Given the description of an element on the screen output the (x, y) to click on. 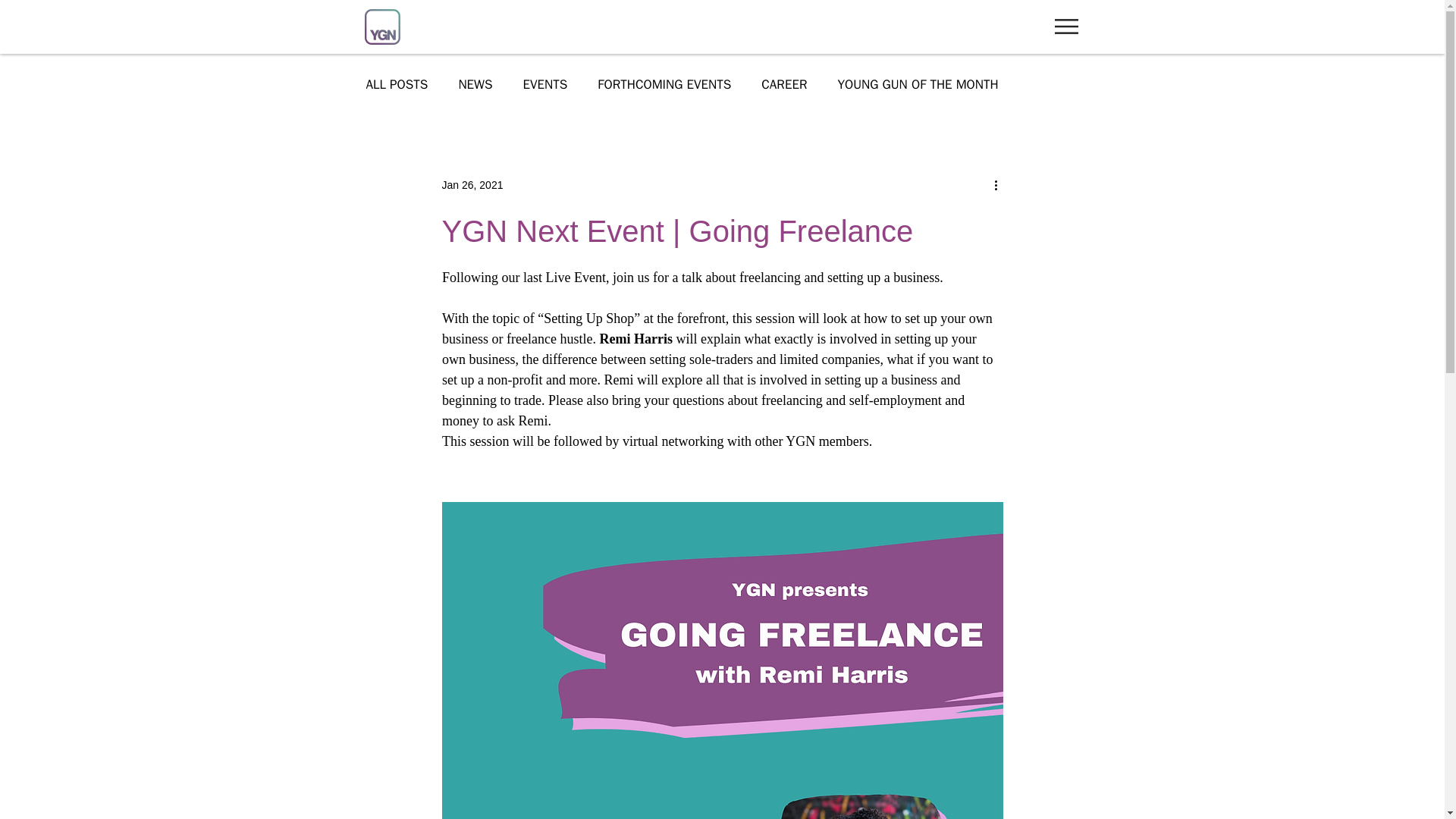
FORTHCOMING EVENTS (663, 84)
Jan 26, 2021 (471, 184)
EVENTS (544, 84)
YOUNG GUN OF THE MONTH (917, 84)
ALL POSTS (396, 84)
CAREER (783, 84)
NEWS (475, 84)
